Given the description of an element on the screen output the (x, y) to click on. 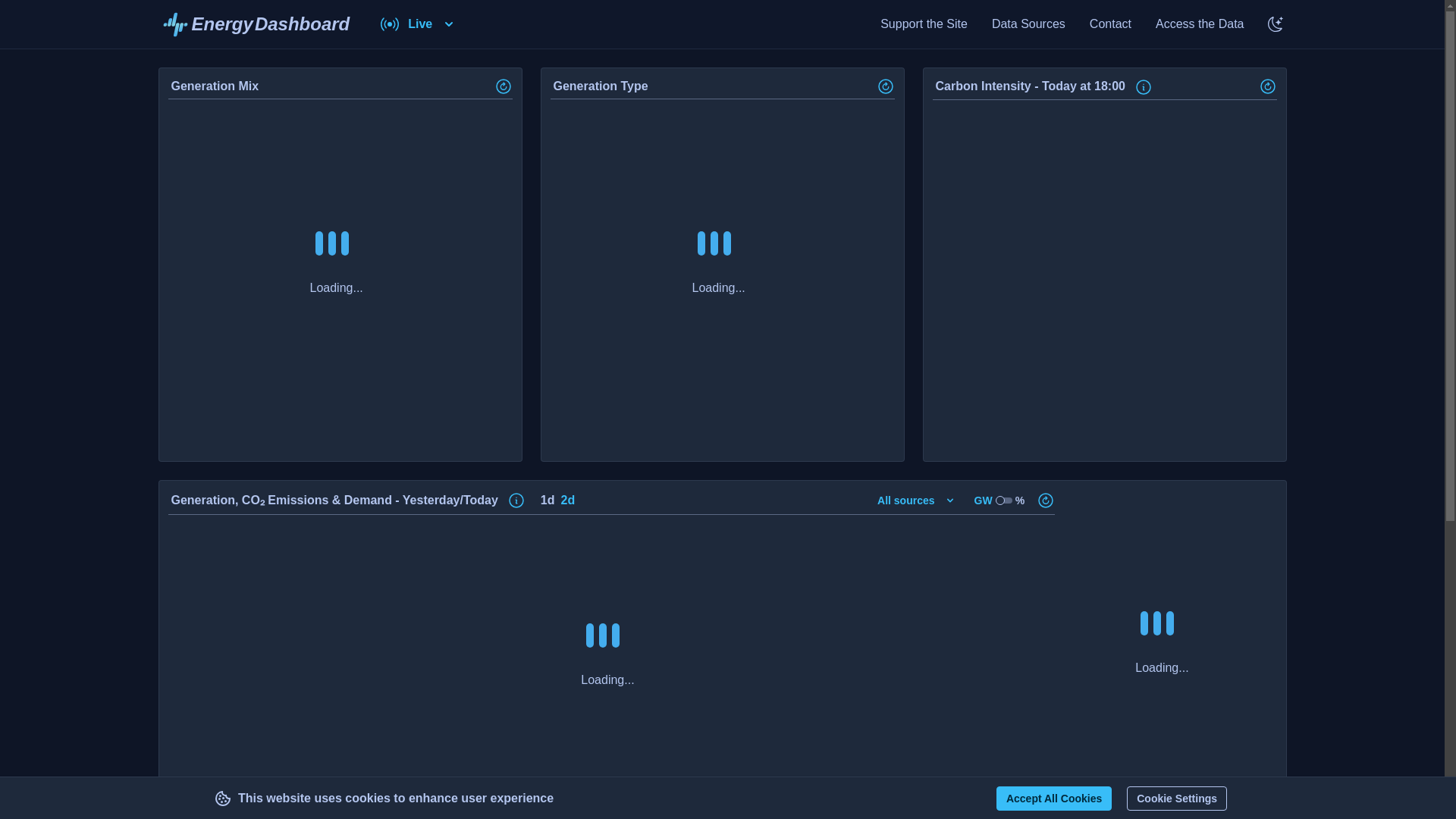
Contact (1109, 23)
Access the Data (1199, 23)
Support the Site (923, 23)
Live (418, 23)
Energy Dashboard Logo (255, 23)
more info (1143, 86)
Data Sources (1028, 23)
All sources (916, 500)
Cookie Settings (1176, 797)
Accept All Cookies (255, 23)
